Given the description of an element on the screen output the (x, y) to click on. 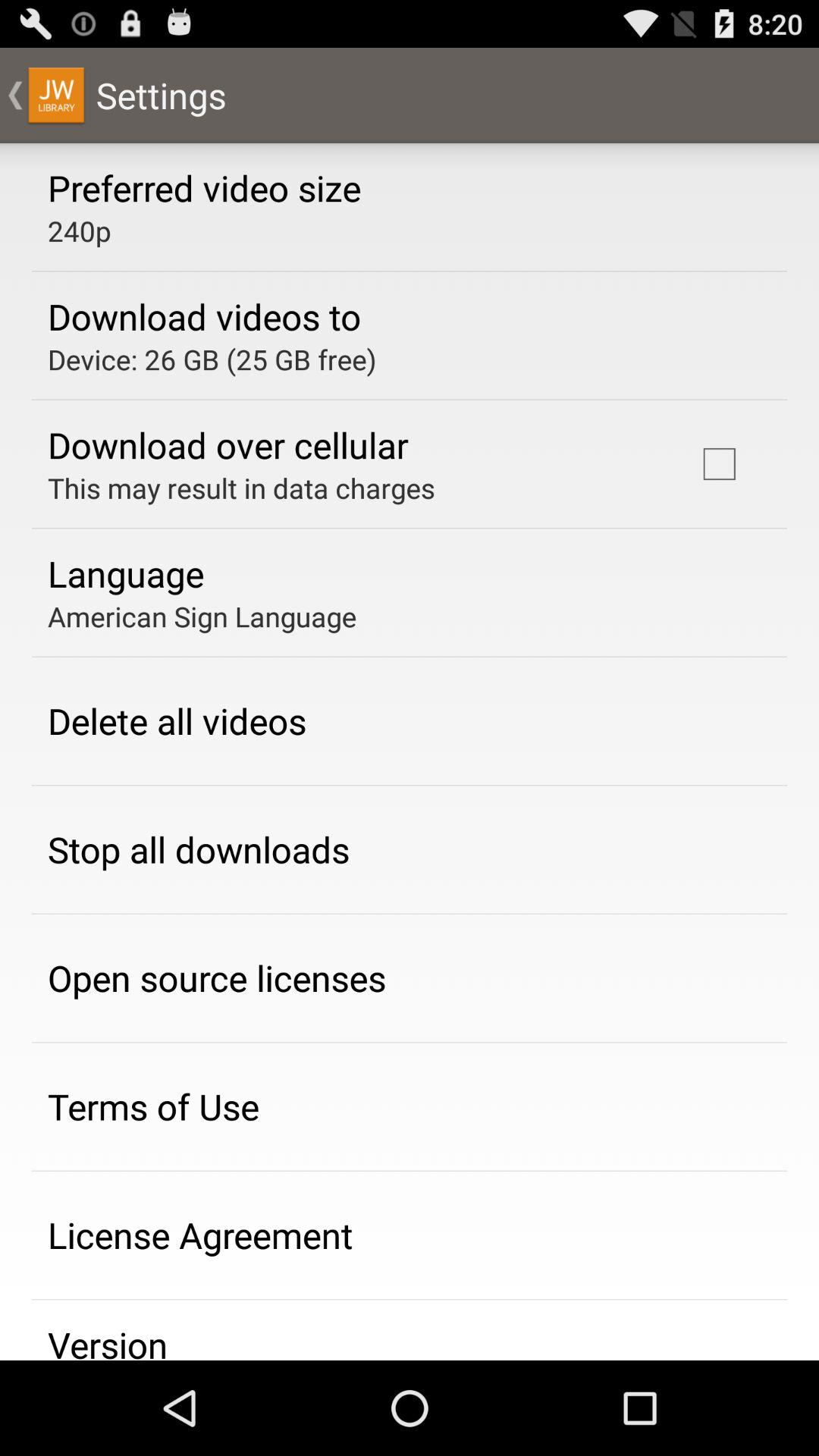
launch terms of use (153, 1106)
